Given the description of an element on the screen output the (x, y) to click on. 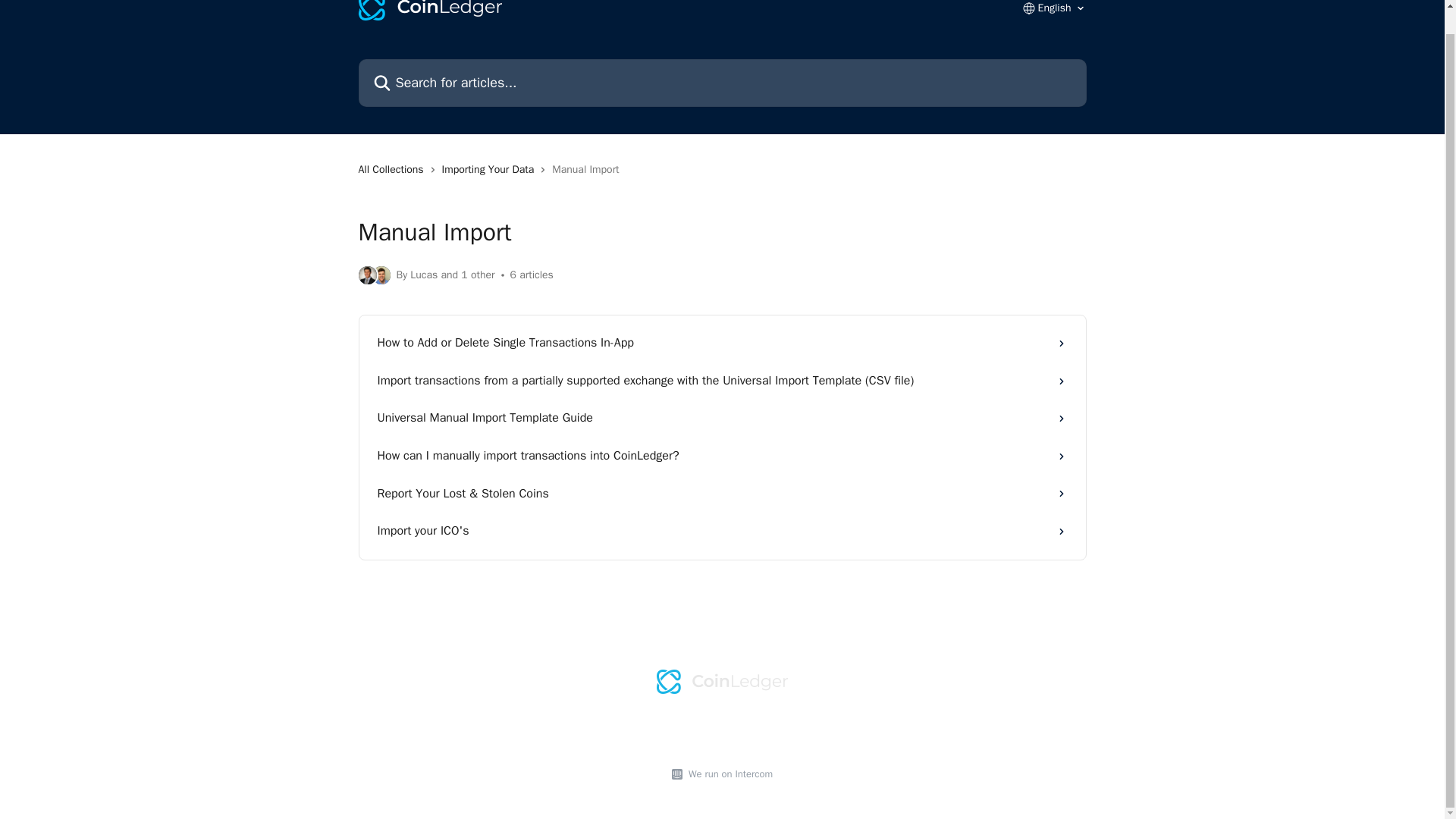
We run on Intercom (727, 774)
Import your ICO's (722, 531)
Universal Manual Import Template Guide (722, 418)
How to Add or Delete Single Transactions In-App (722, 343)
How can I manually import transactions into CoinLedger? (722, 456)
Importing Your Data (491, 169)
All Collections (393, 169)
